Given the description of an element on the screen output the (x, y) to click on. 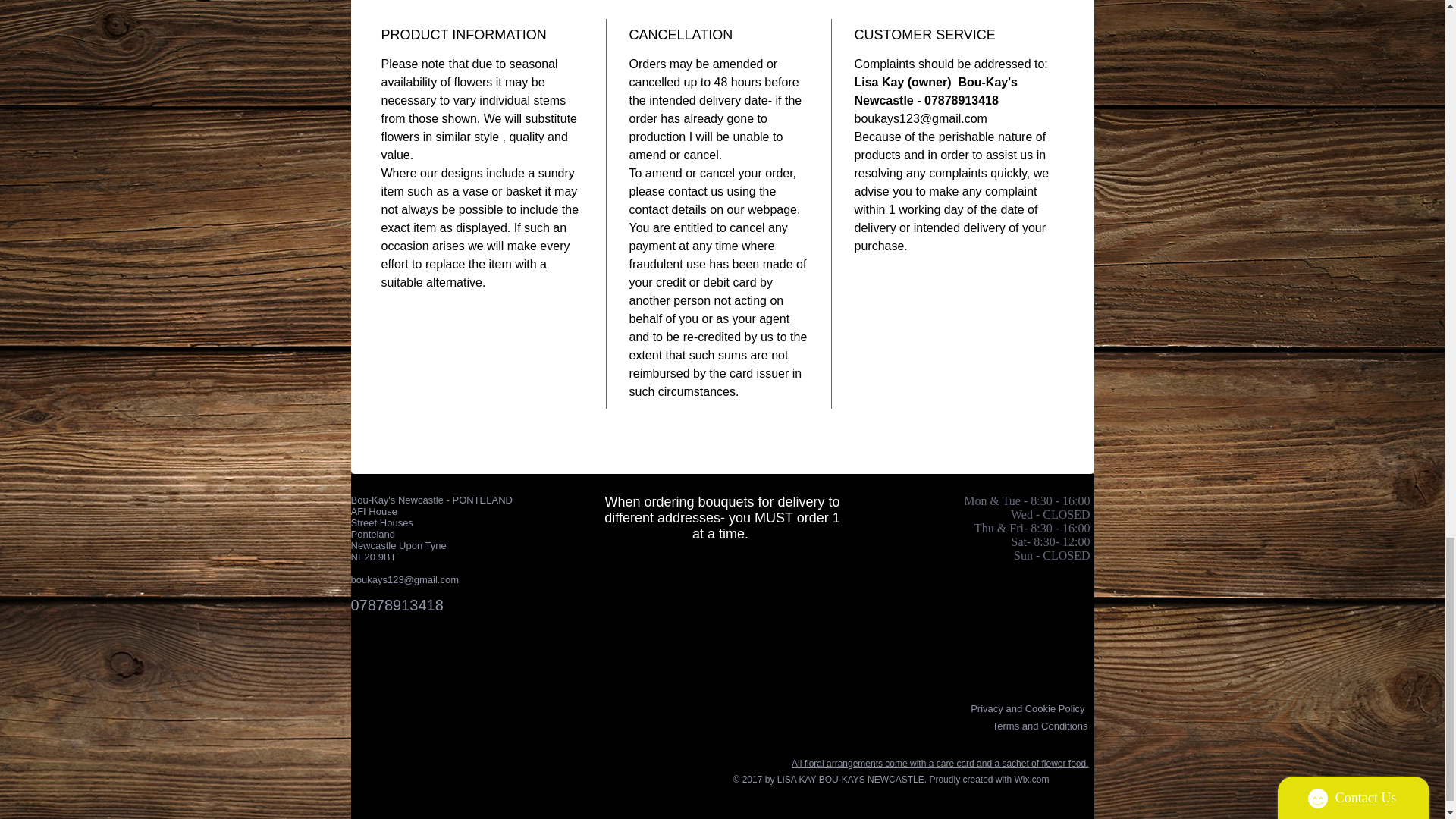
Terms and Conditions (1039, 726)
Privacy and Cookie Policy (1027, 708)
Wix.com (1031, 778)
